Given the description of an element on the screen output the (x, y) to click on. 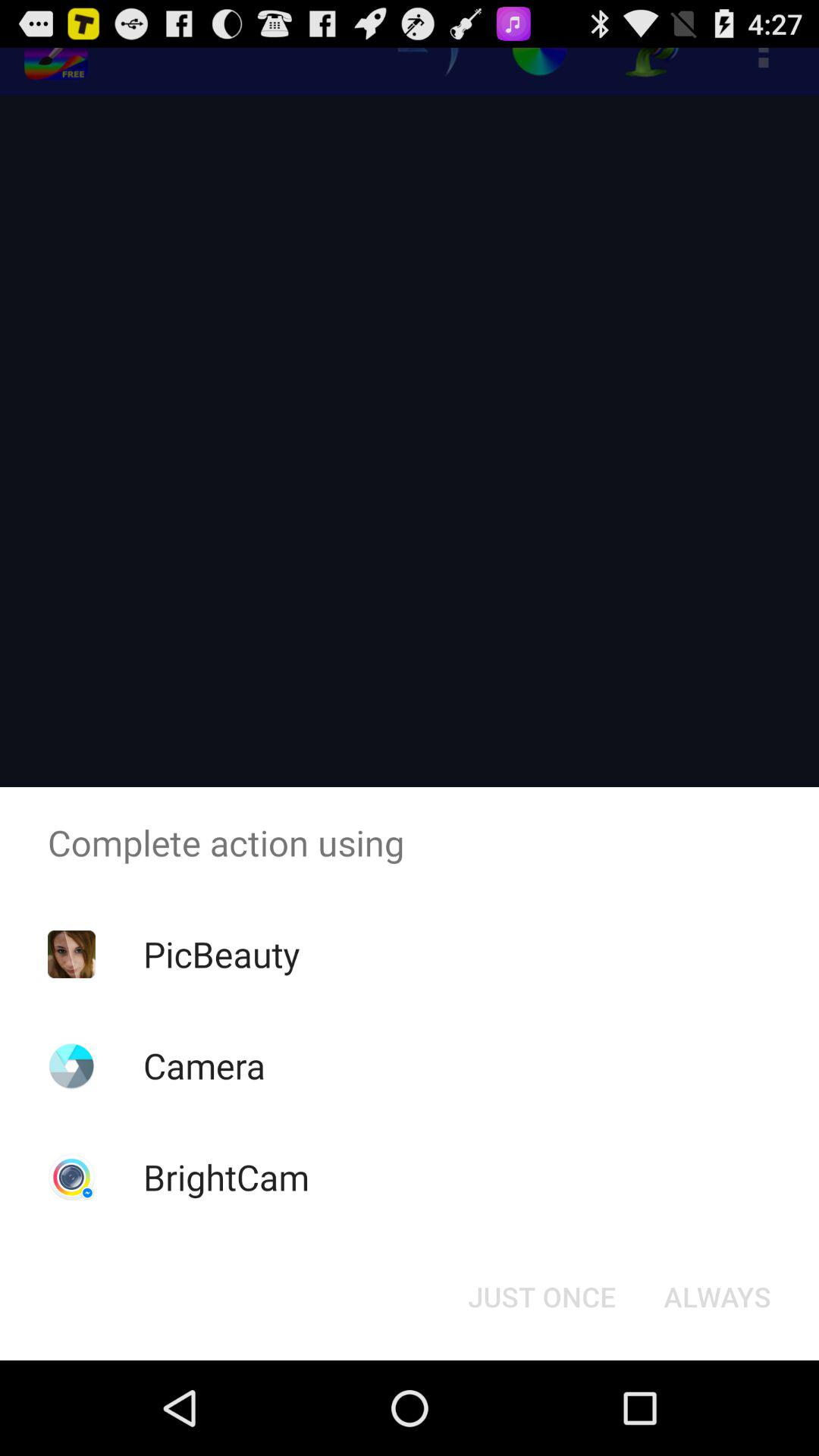
scroll to the brightcam icon (226, 1176)
